Given the description of an element on the screen output the (x, y) to click on. 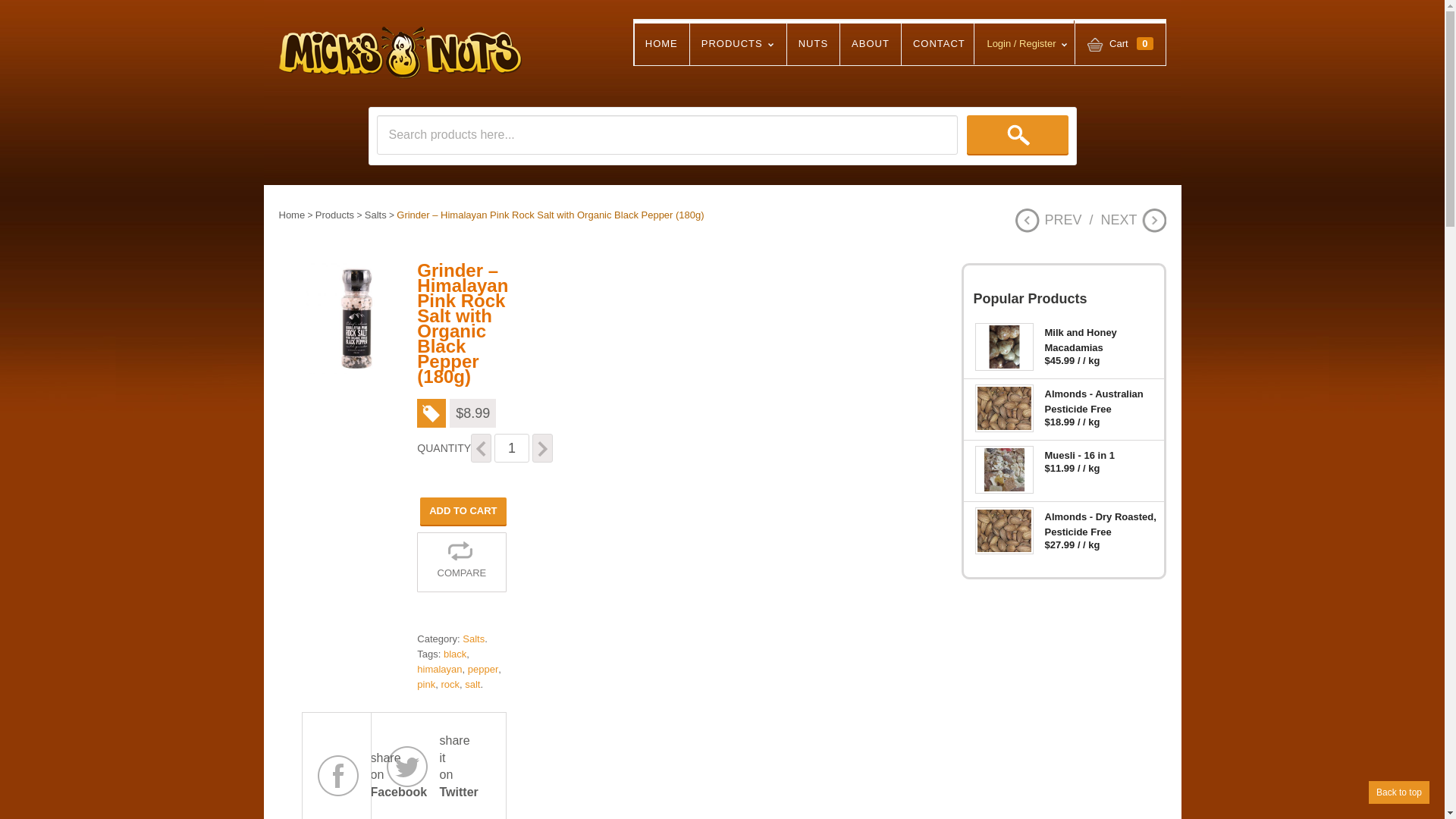
Back to top Element type: text (1398, 792)
CONTACT Element type: text (938, 43)
Muesli - 16 in 1 Element type: text (1063, 451)
pepper Element type: text (482, 668)
Products Element type: text (334, 214)
COMPARE Element type: text (461, 562)
himalayan Element type: text (439, 668)
HOME Element type: text (661, 43)
Micks Nuts Element type: hover (400, 39)
Milk and Honey Macadamias Element type: text (1063, 336)
NUTS Element type: text (813, 43)
Salts Element type: text (375, 214)
Almonds - Australian Pesticide Free Element type: text (1063, 398)
ABOUT Element type: text (870, 43)
NEXT Element type: text (1132, 219)
Micks Nuts Element type: hover (400, 52)
Cart 0 Element type: text (1119, 44)
Qty Element type: hover (511, 447)
Salts Element type: text (473, 638)
Search Element type: text (1017, 134)
black Element type: text (454, 653)
salt Element type: text (472, 684)
Almonds - Dry Roasted, Pesticide Free Element type: text (1063, 520)
Home Element type: text (292, 214)
pink Element type: text (426, 684)
ADD TO CART Element type: text (462, 510)
rock Element type: text (449, 684)
PREV Element type: text (1048, 219)
Login Element type: text (1093, 171)
